Given the description of an element on the screen output the (x, y) to click on. 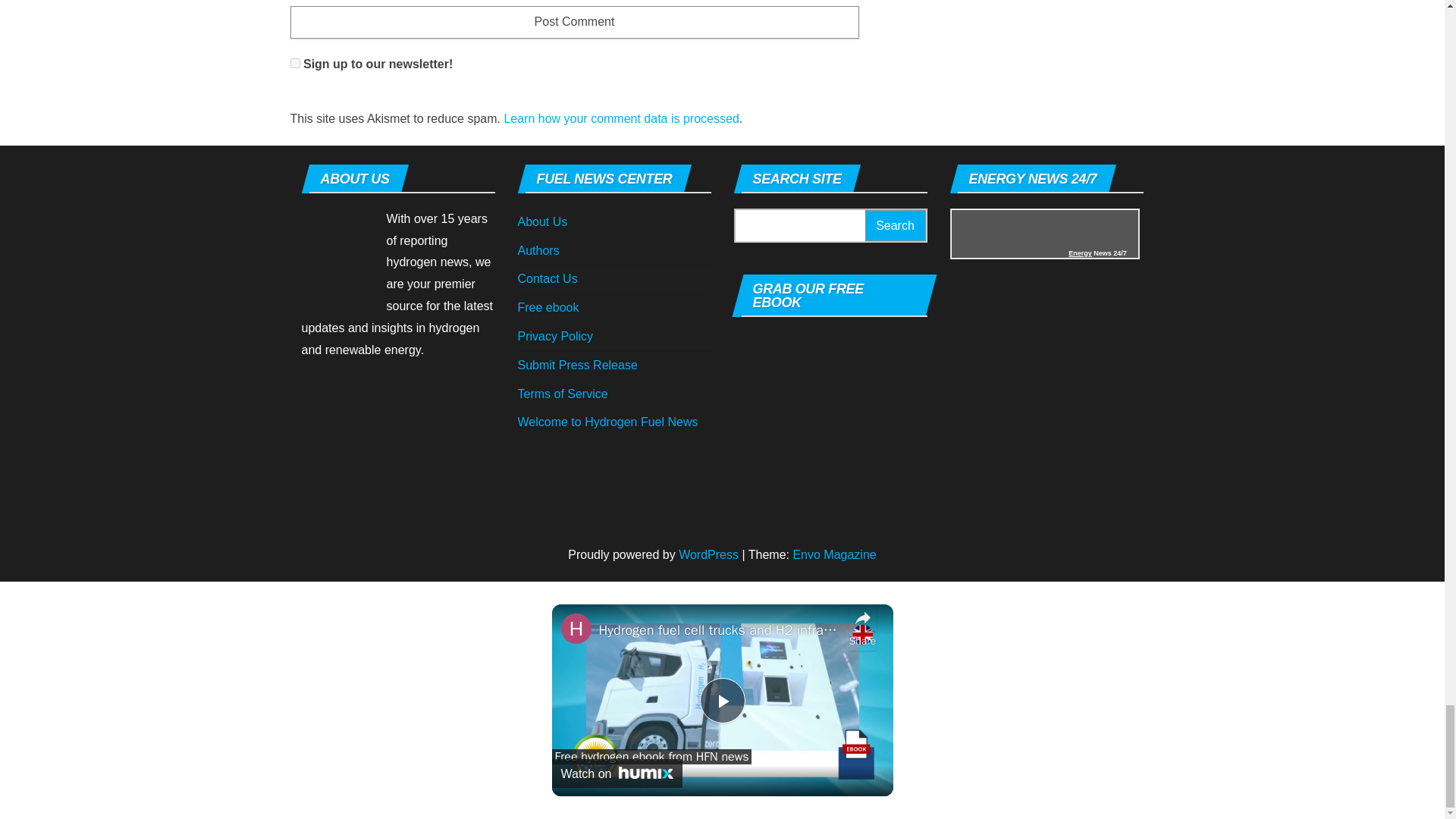
Post Comment (574, 21)
Search (894, 224)
1 (294, 62)
